Given the description of an element on the screen output the (x, y) to click on. 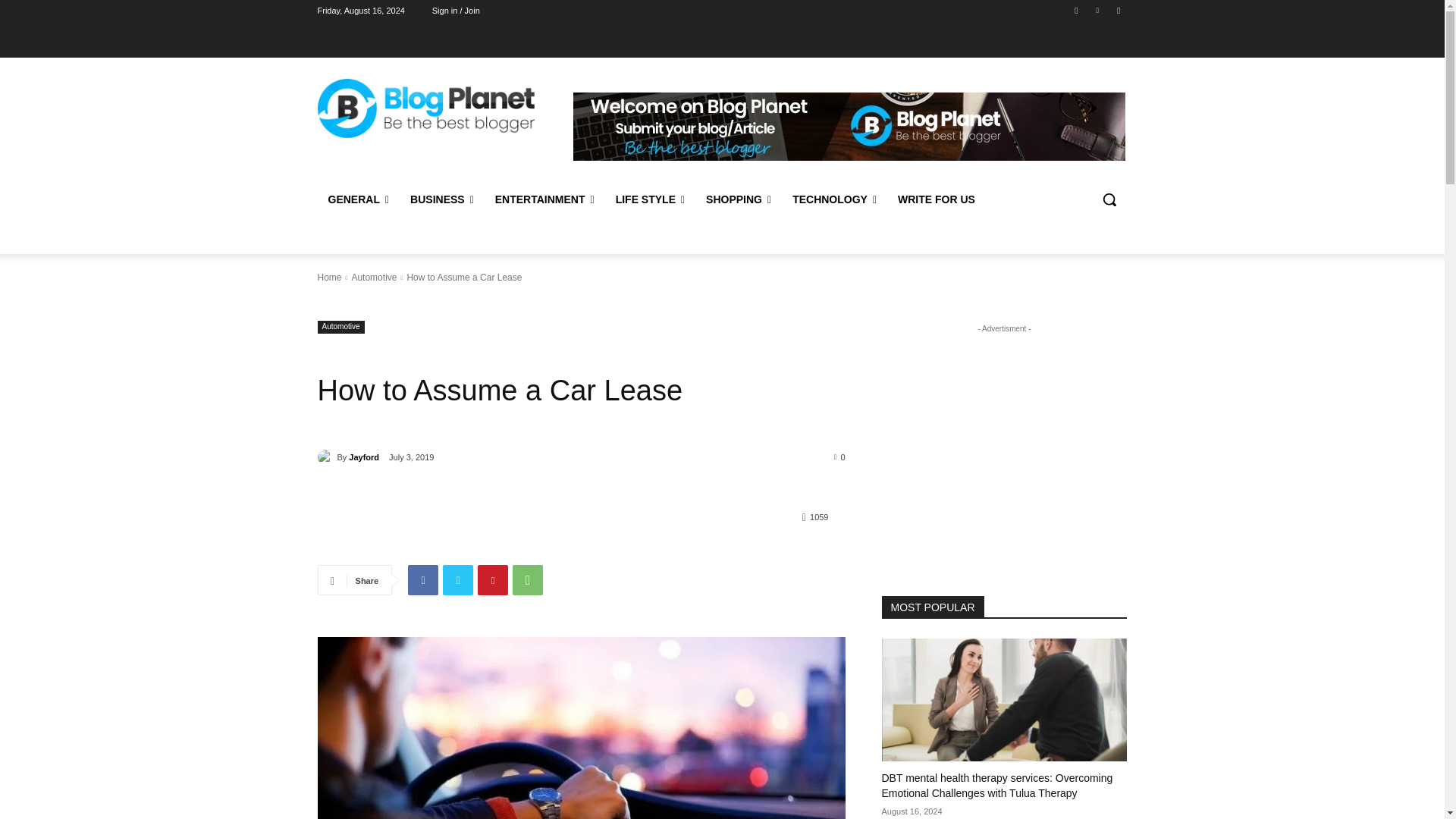
Linkedin (1097, 9)
Facebook (1075, 9)
Pinterest (492, 580)
Facebook (422, 580)
GENERAL (357, 198)
Twitter (457, 580)
WhatsApp (527, 580)
Jayford (326, 457)
View all posts in Automotive (373, 276)
Twitter (1117, 9)
